Given the description of an element on the screen output the (x, y) to click on. 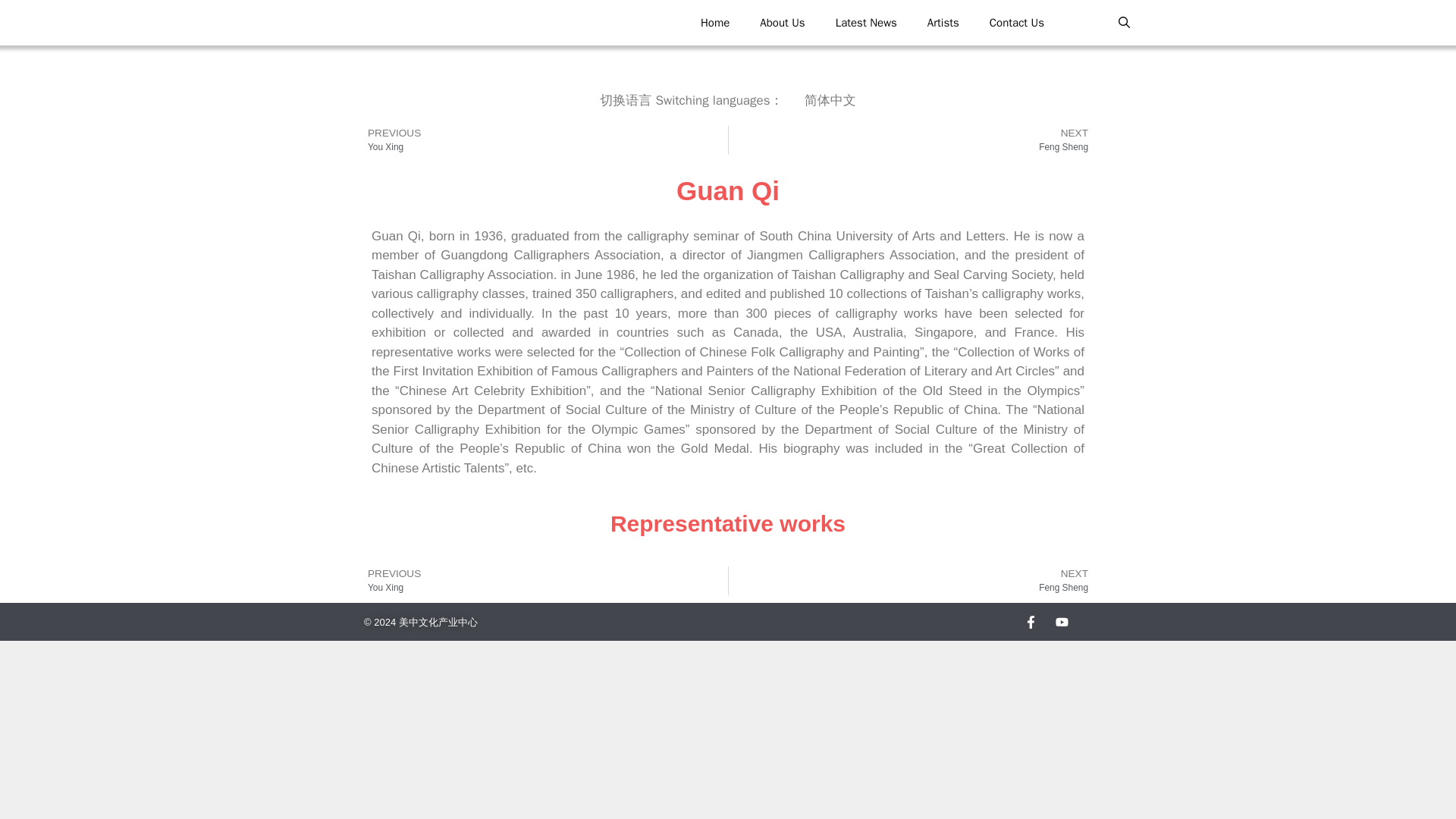
Artists (943, 22)
About Us (542, 580)
Home (781, 22)
Latest News (913, 140)
Contact Us (542, 140)
